Given the description of an element on the screen output the (x, y) to click on. 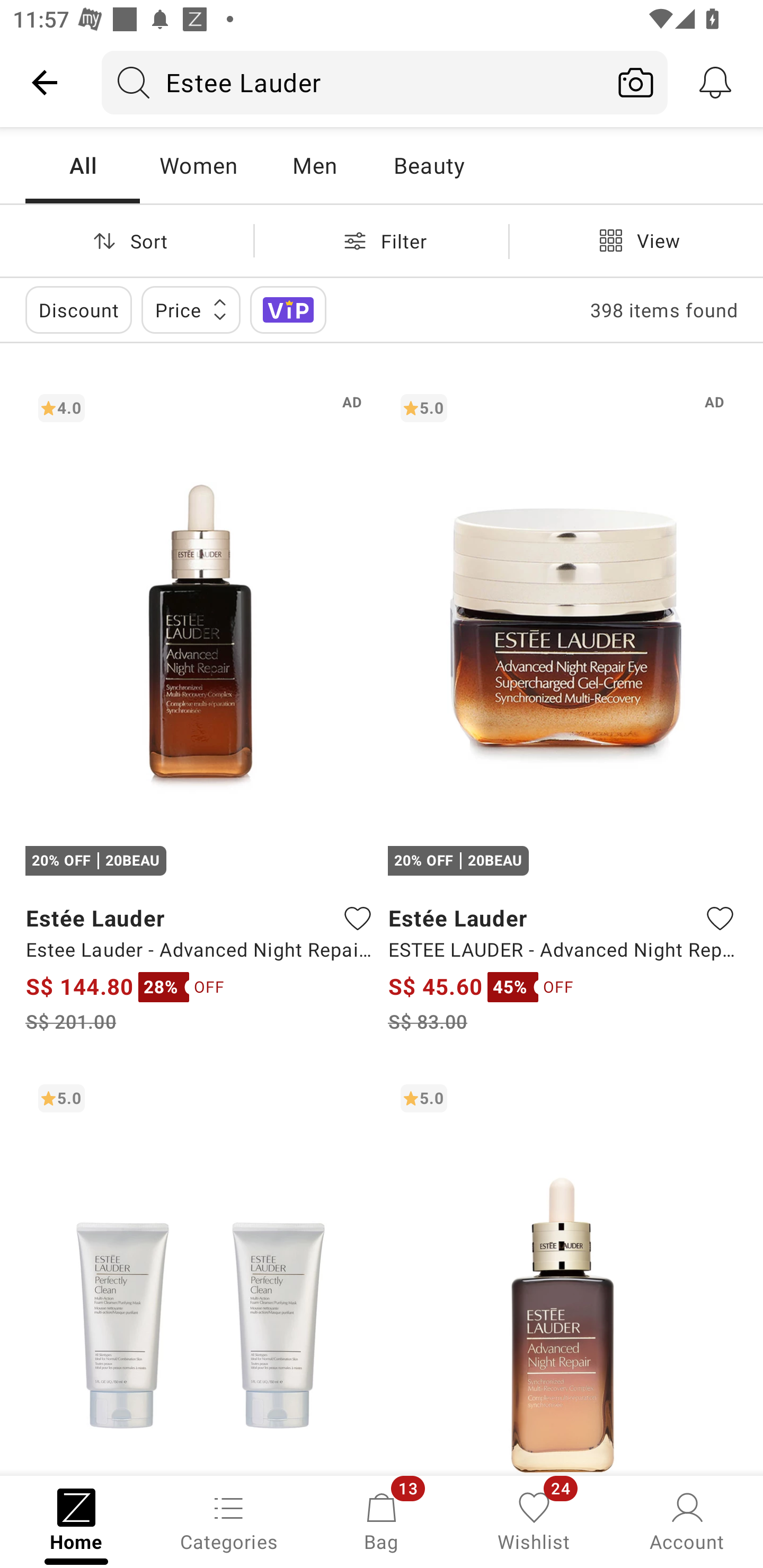
Navigate up (44, 82)
Estee Lauder (352, 82)
Women (198, 165)
Men (314, 165)
Beauty (428, 165)
Sort (126, 240)
Filter (381, 240)
View (636, 240)
Discount (78, 309)
Price (190, 309)
5.0 (200, 1272)
5.0 (562, 1272)
Categories (228, 1519)
Bag, 13 new notifications Bag (381, 1519)
Wishlist, 24 new notifications Wishlist (533, 1519)
Account (686, 1519)
